Given the description of an element on the screen output the (x, y) to click on. 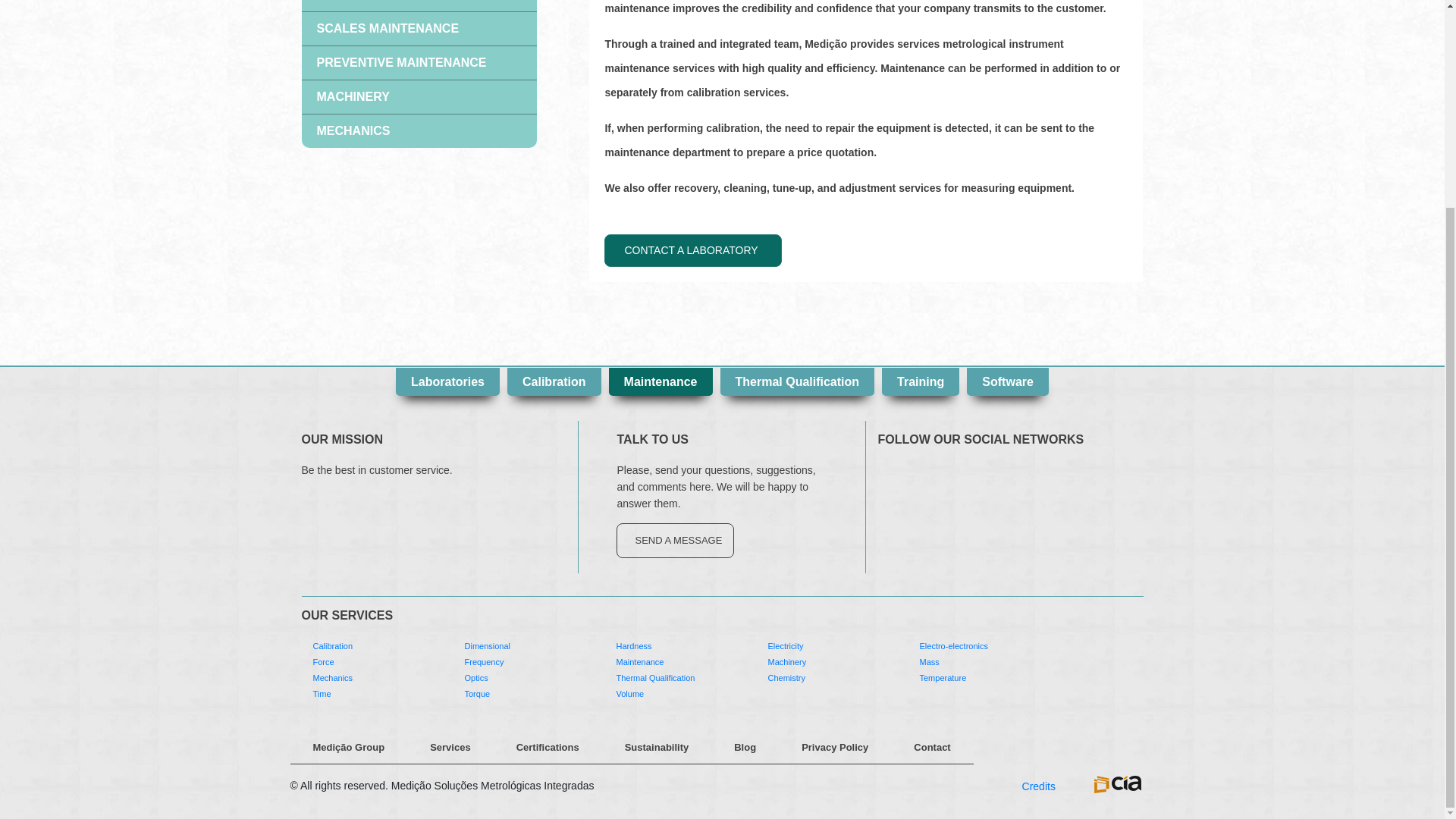
PREVENTIVE MAINTENANCE (419, 62)
Laboratories (447, 381)
ELECTRO-ELECTRONICS (419, 6)
Maintenance (660, 381)
MACHINERY (419, 97)
CONTACT A LABORATORY (692, 250)
SCALES MAINTENANCE (419, 28)
Calibration (553, 381)
MECHANICS (419, 131)
